Given the description of an element on the screen output the (x, y) to click on. 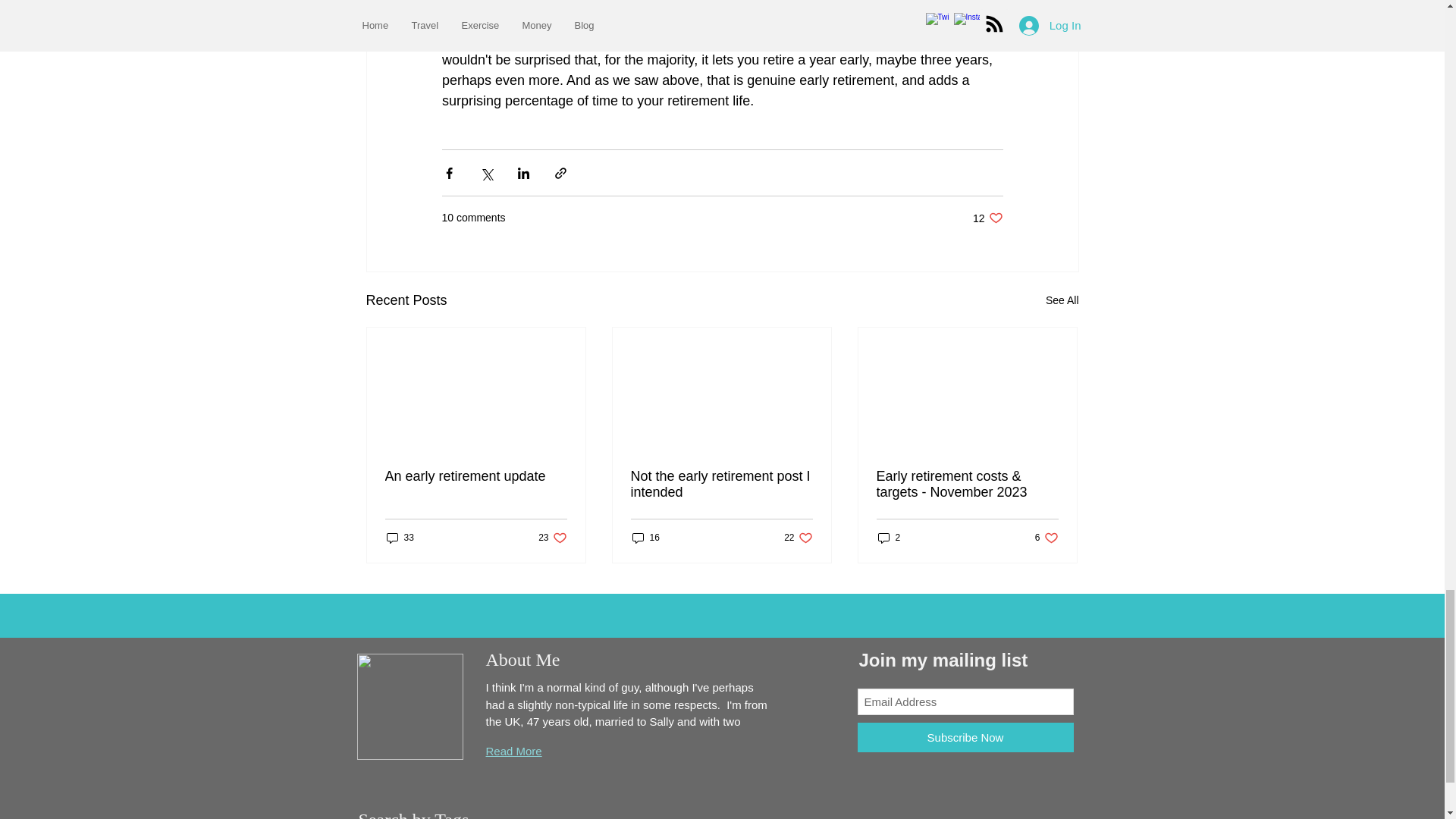
An early retirement update (476, 476)
Not the early retirement post I intended (798, 537)
33 (721, 484)
16 (1046, 537)
See All (399, 537)
Read More (645, 537)
2 (1061, 300)
